Given the description of an element on the screen output the (x, y) to click on. 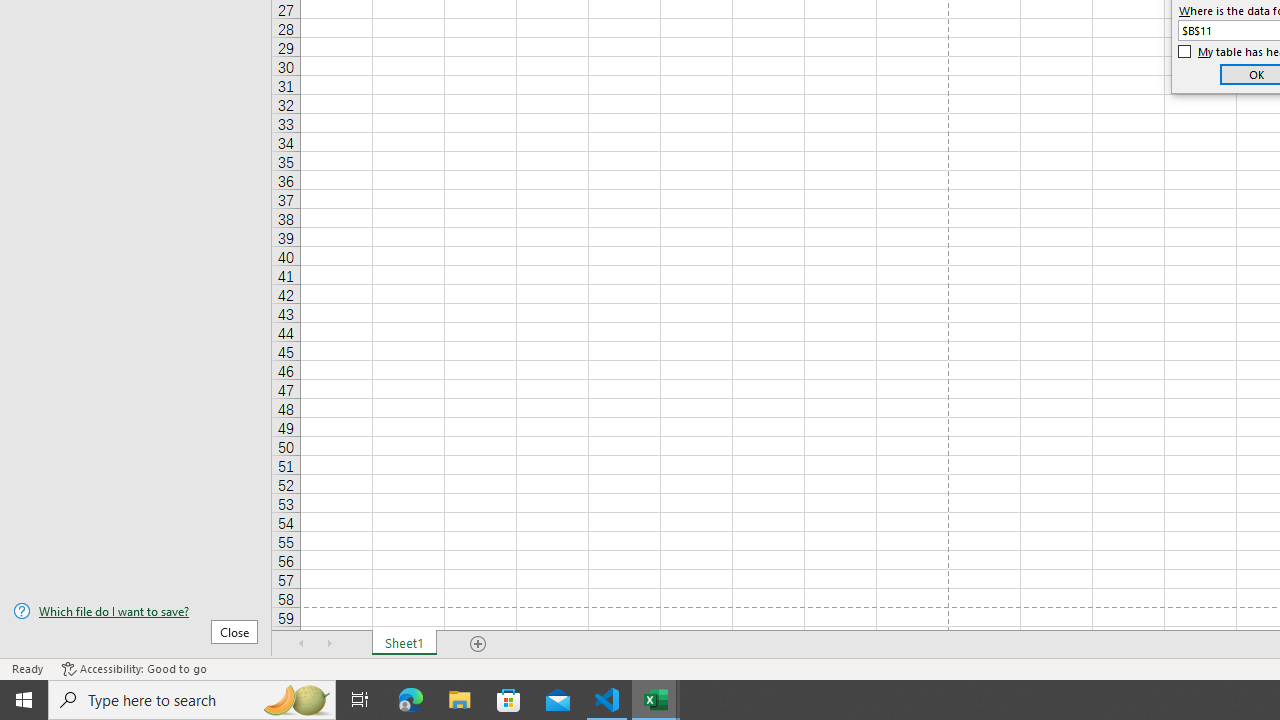
Accessibility Checker Accessibility: Good to go (134, 668)
Add Sheet (478, 644)
Which file do I want to save? (136, 611)
Scroll Left (302, 644)
Scroll Right (330, 644)
Sheet1 (404, 644)
